Given the description of an element on the screen output the (x, y) to click on. 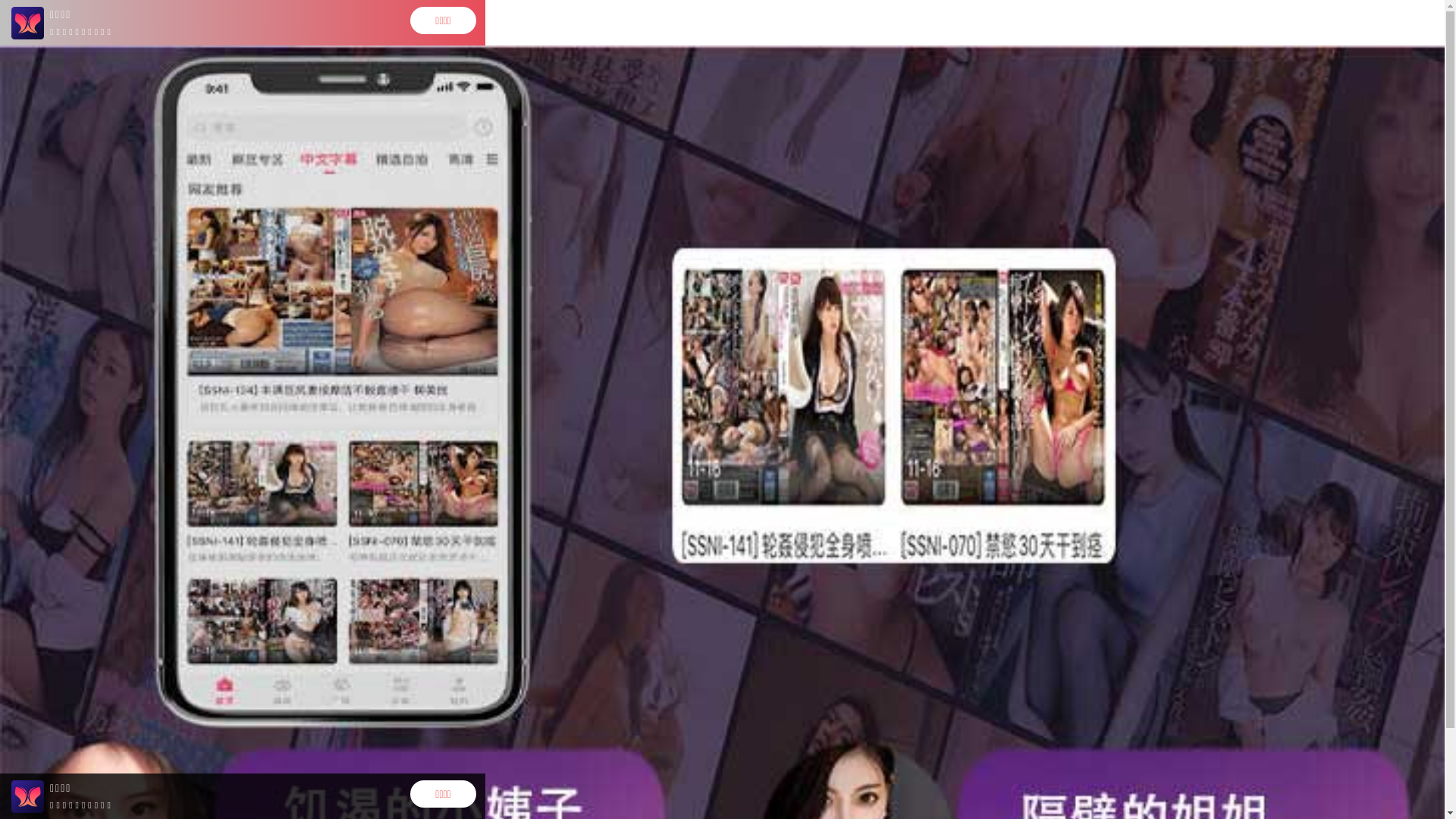
HD Element type: text (360, 230)
